Given the description of an element on the screen output the (x, y) to click on. 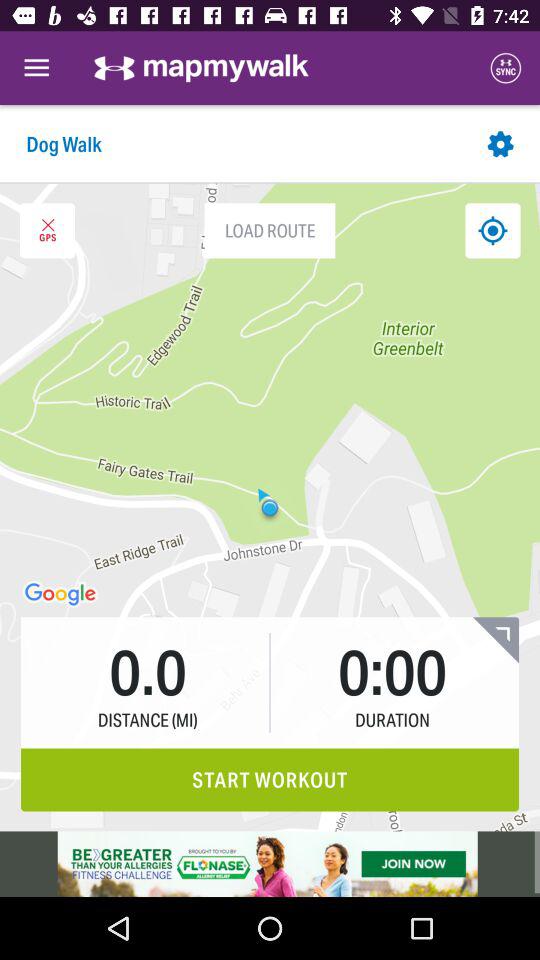
open gps (47, 230)
